Given the description of an element on the screen output the (x, y) to click on. 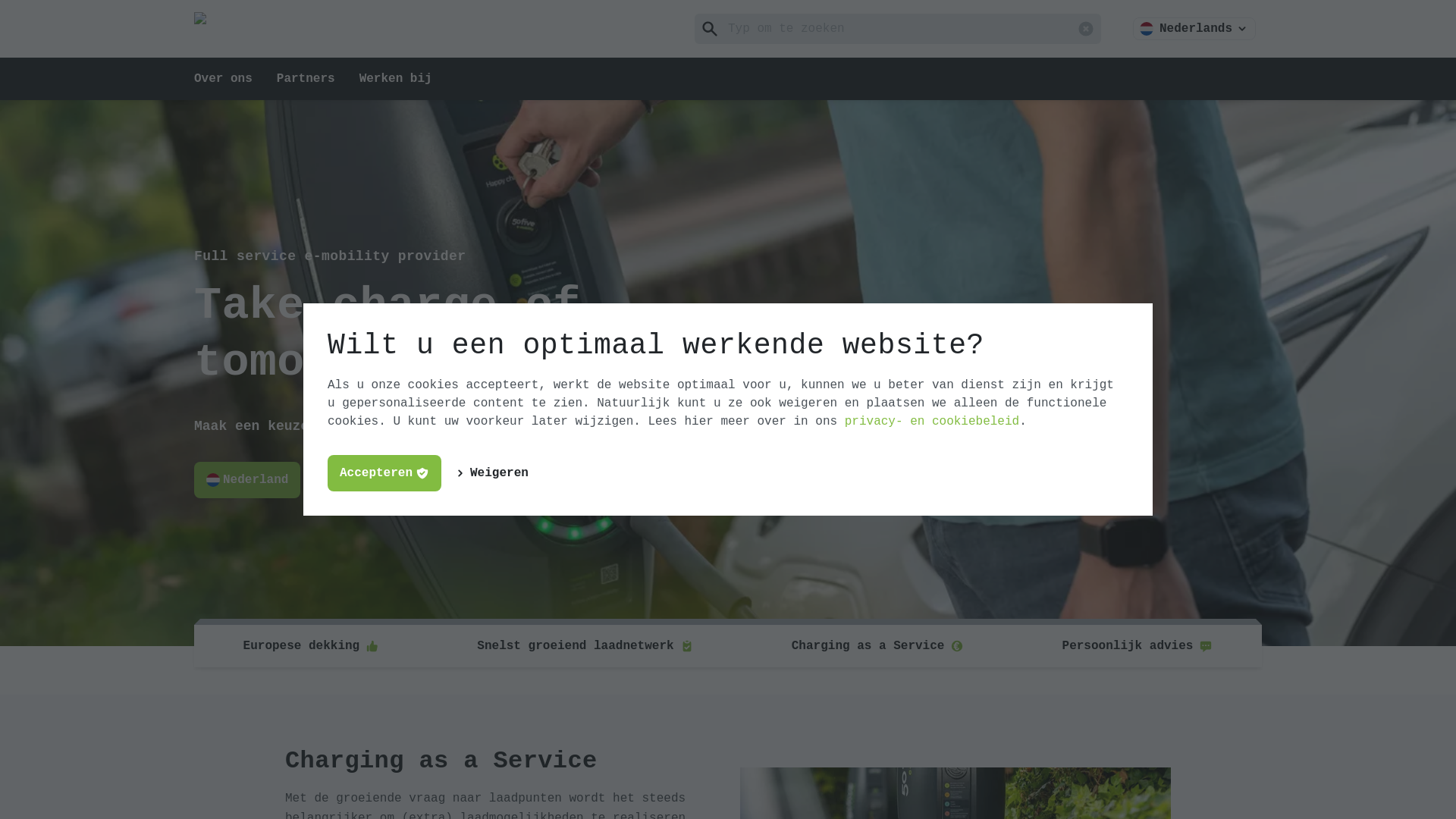
Nederland Element type: text (247, 479)
Sluiten Element type: text (1085, 28)
Over ons Element type: text (223, 78)
privacy- en cookiebeleid Element type: text (931, 421)
Verenigd Koninkrijk Element type: text (498, 479)
Partners Element type: text (305, 78)
Werken bij Element type: text (395, 78)
Nederlands Element type: text (1193, 28)
Zoeken Element type: text (709, 28)
Accepteren Element type: text (384, 473)
Weigeren Element type: text (492, 473)
